Given the description of an element on the screen output the (x, y) to click on. 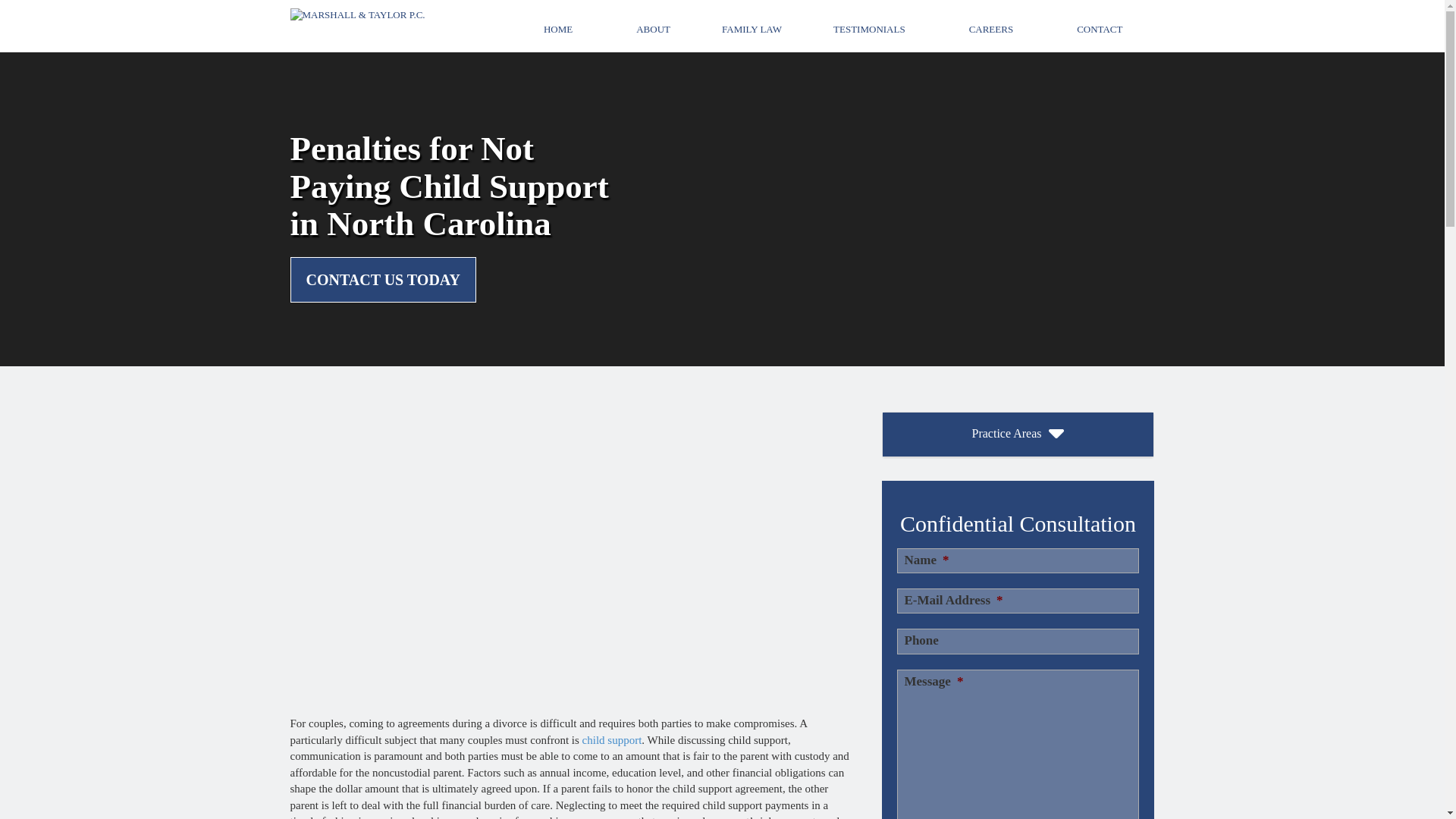
CAREERS (991, 30)
child support (612, 739)
CONTACT US TODAY (382, 280)
HOME (558, 30)
TESTIMONIALS (869, 30)
FAMILY LAW (751, 30)
Practice Areas (1018, 434)
ABOUT (652, 30)
CONTACT (1099, 30)
